Given the description of an element on the screen output the (x, y) to click on. 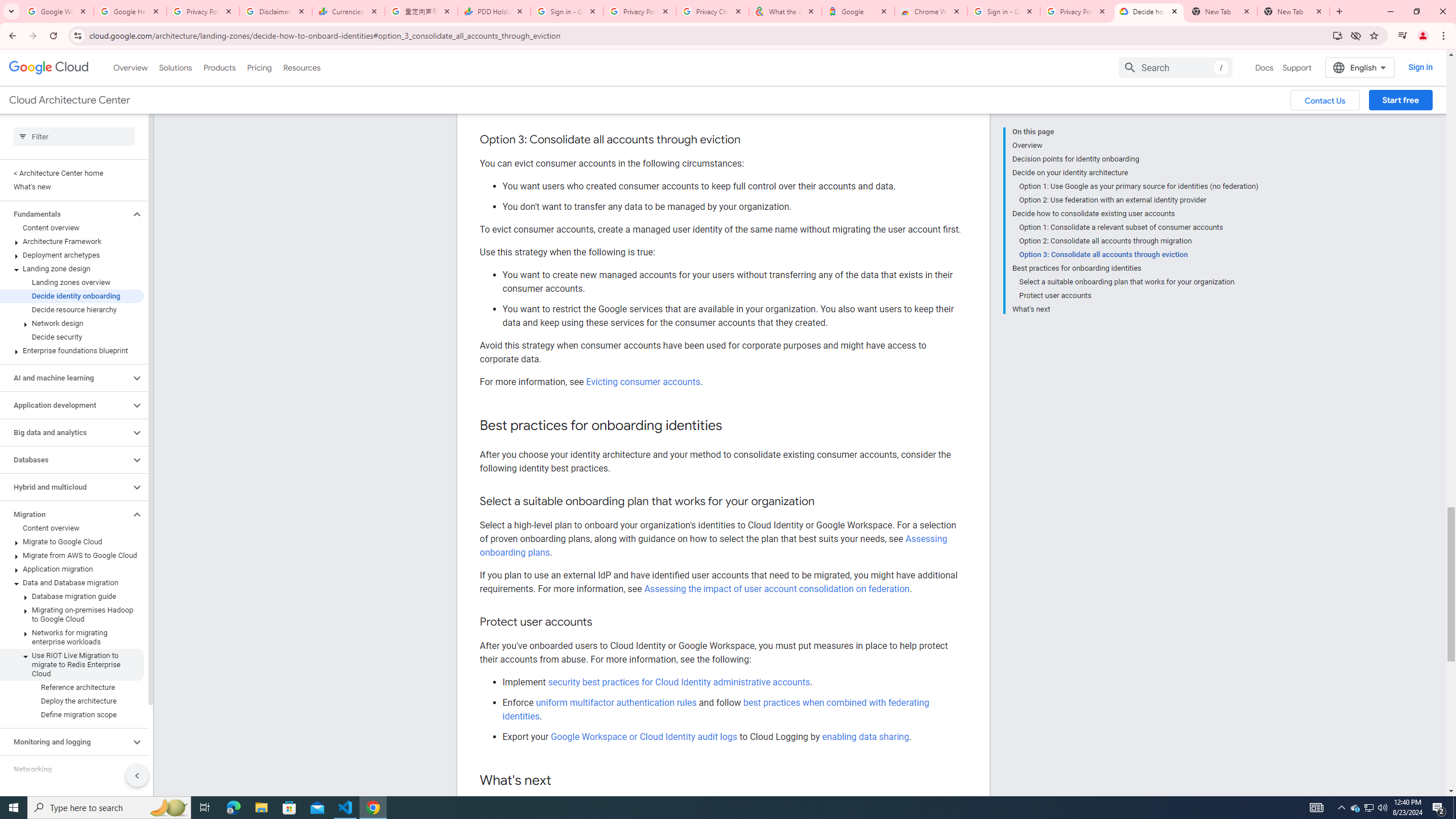
Architecture Framework (72, 241)
Currencies - Google Finance (348, 11)
English (1359, 67)
Evicting consumer accounts (642, 381)
Databases (64, 459)
Option 1: Consolidate a relevant subset of consumer accounts (1138, 227)
Monitoring and logging (64, 742)
